Given the description of an element on the screen output the (x, y) to click on. 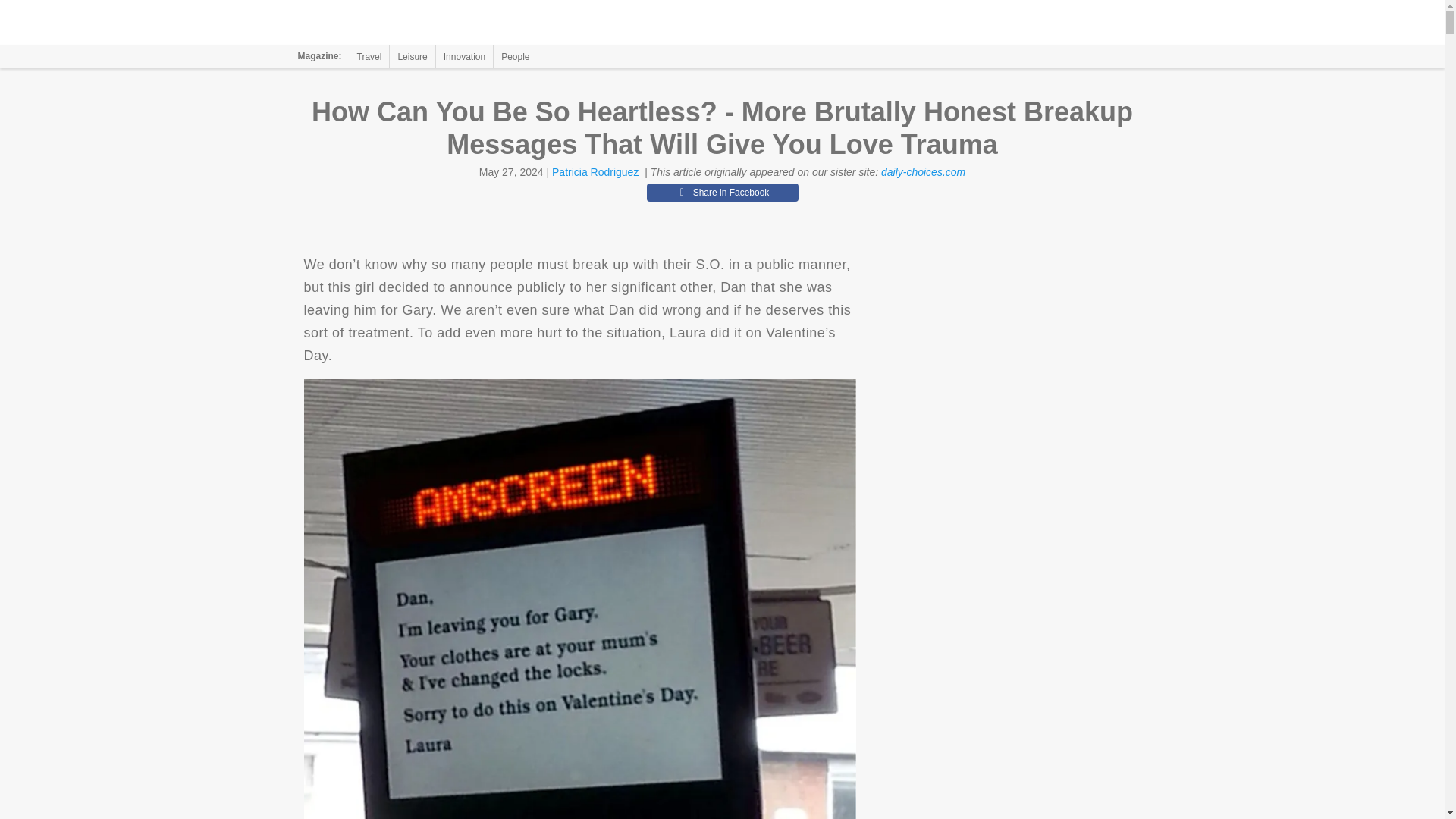
People (515, 56)
Travel (369, 56)
Innovation (464, 56)
Share in Facebook (721, 192)
Patricia Rodriguez (595, 172)
Leisure (411, 56)
The Jerusalem Post Magazine (391, 22)
daily-choices.com (922, 172)
